Given the description of an element on the screen output the (x, y) to click on. 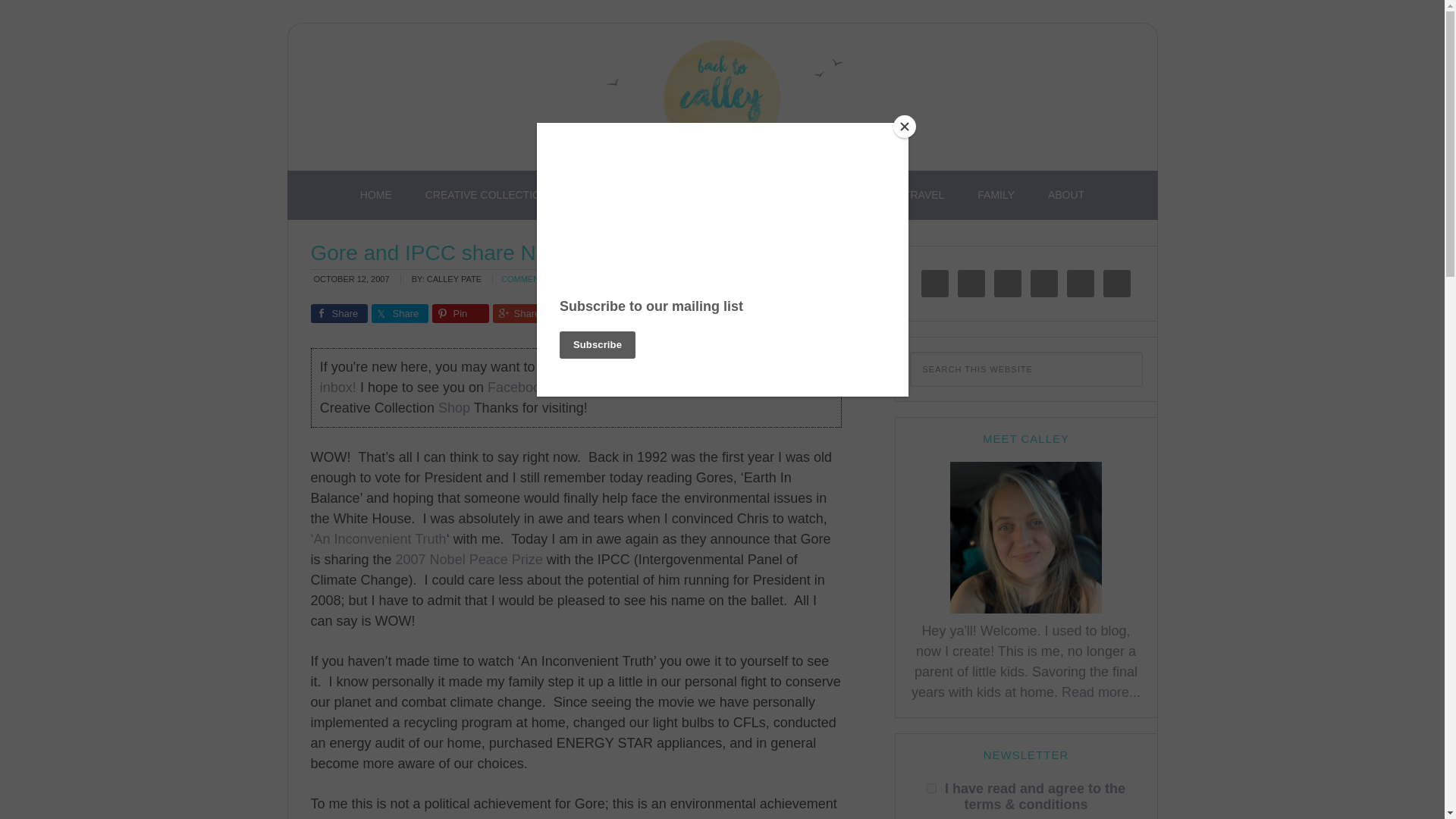
HOME (376, 195)
GIRL SCOUTS (725, 195)
1 (931, 787)
CREATE (635, 195)
GREEN LIVING (831, 195)
CREATIVE COLLECTION SHOP (503, 195)
